Given the description of an element on the screen output the (x, y) to click on. 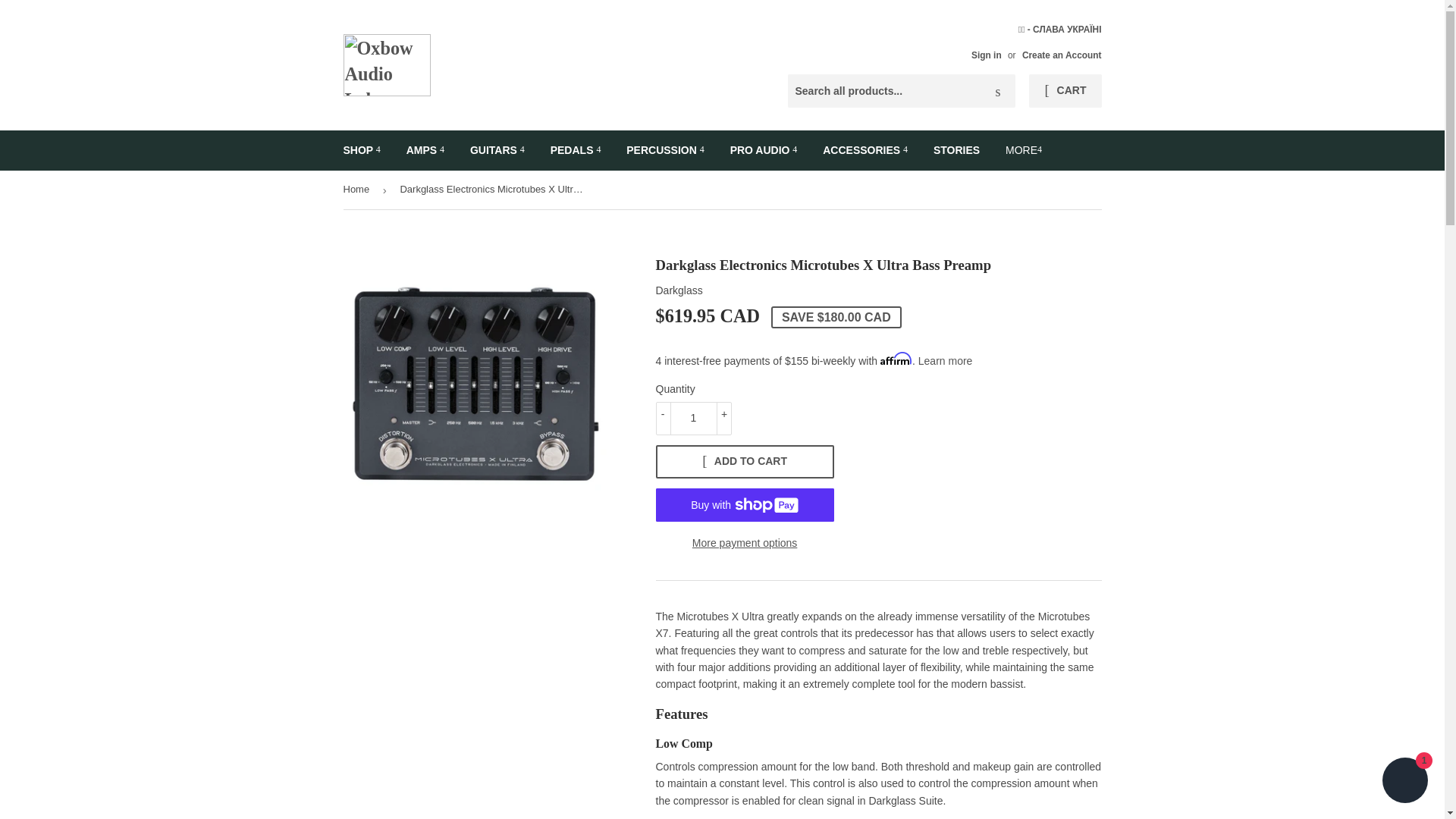
CART (1064, 90)
Back to the frontpage (358, 189)
1 (692, 418)
Search (997, 91)
Create an Account (1062, 54)
Sign in (986, 54)
Shopify online store chat (1404, 781)
